Given the description of an element on the screen output the (x, y) to click on. 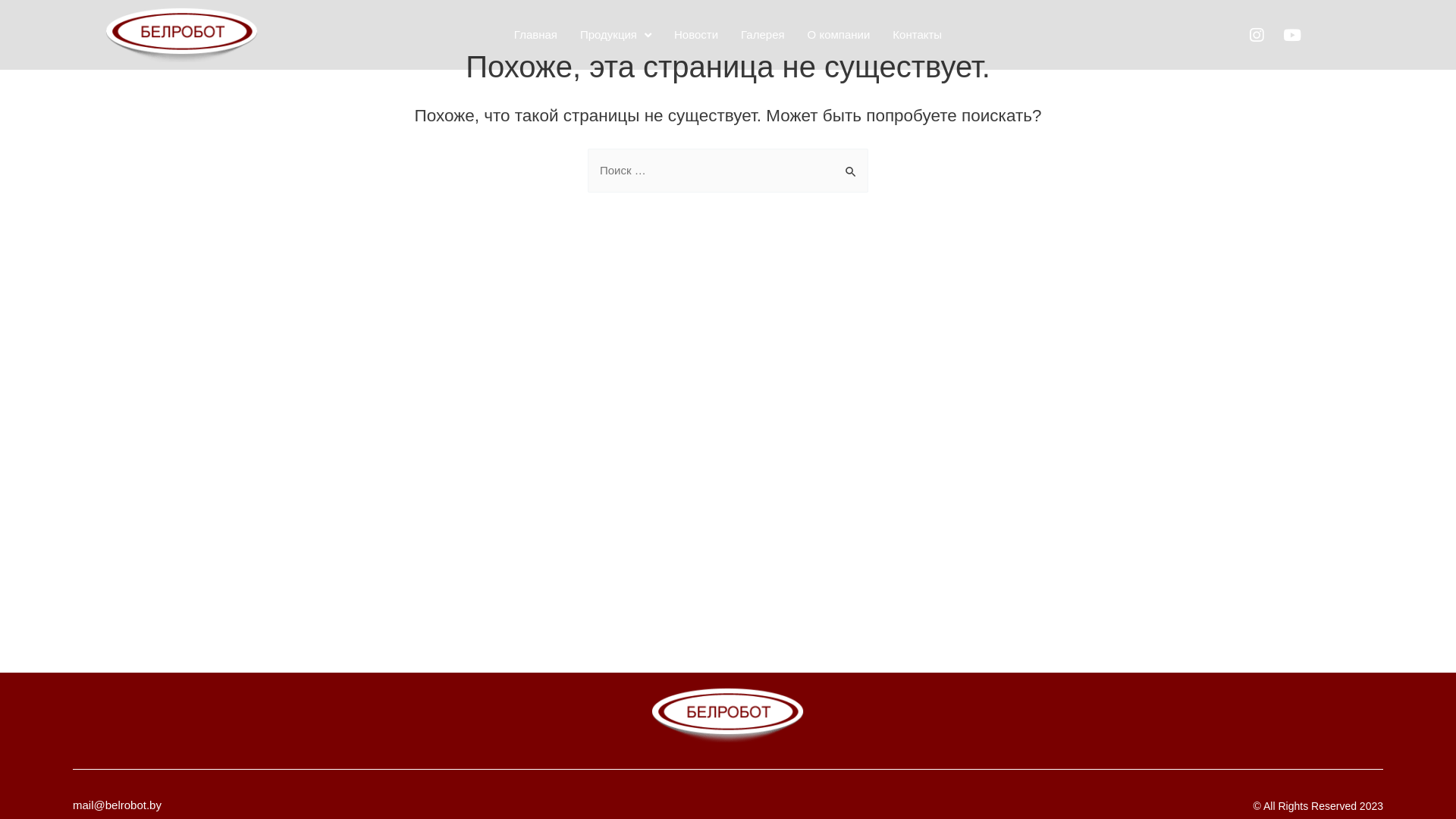
@belrobot.by Element type: text (127, 804)
